Given the description of an element on the screen output the (x, y) to click on. 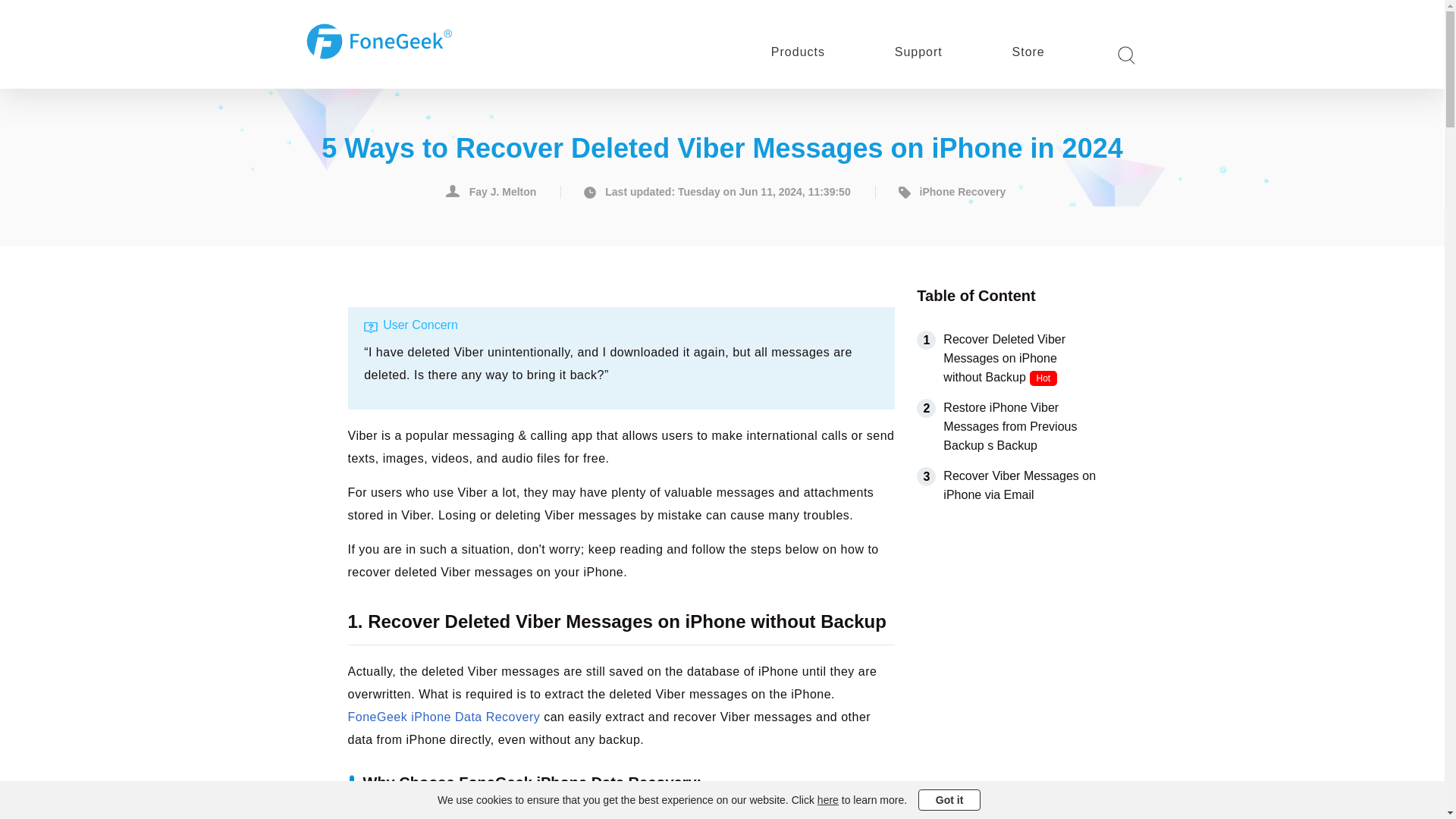
Products (769, 51)
FoneGeek iPhone Data Recovery (443, 709)
Support (890, 51)
Store (1000, 51)
iPhone Recovery (949, 185)
here (827, 799)
